Given the description of an element on the screen output the (x, y) to click on. 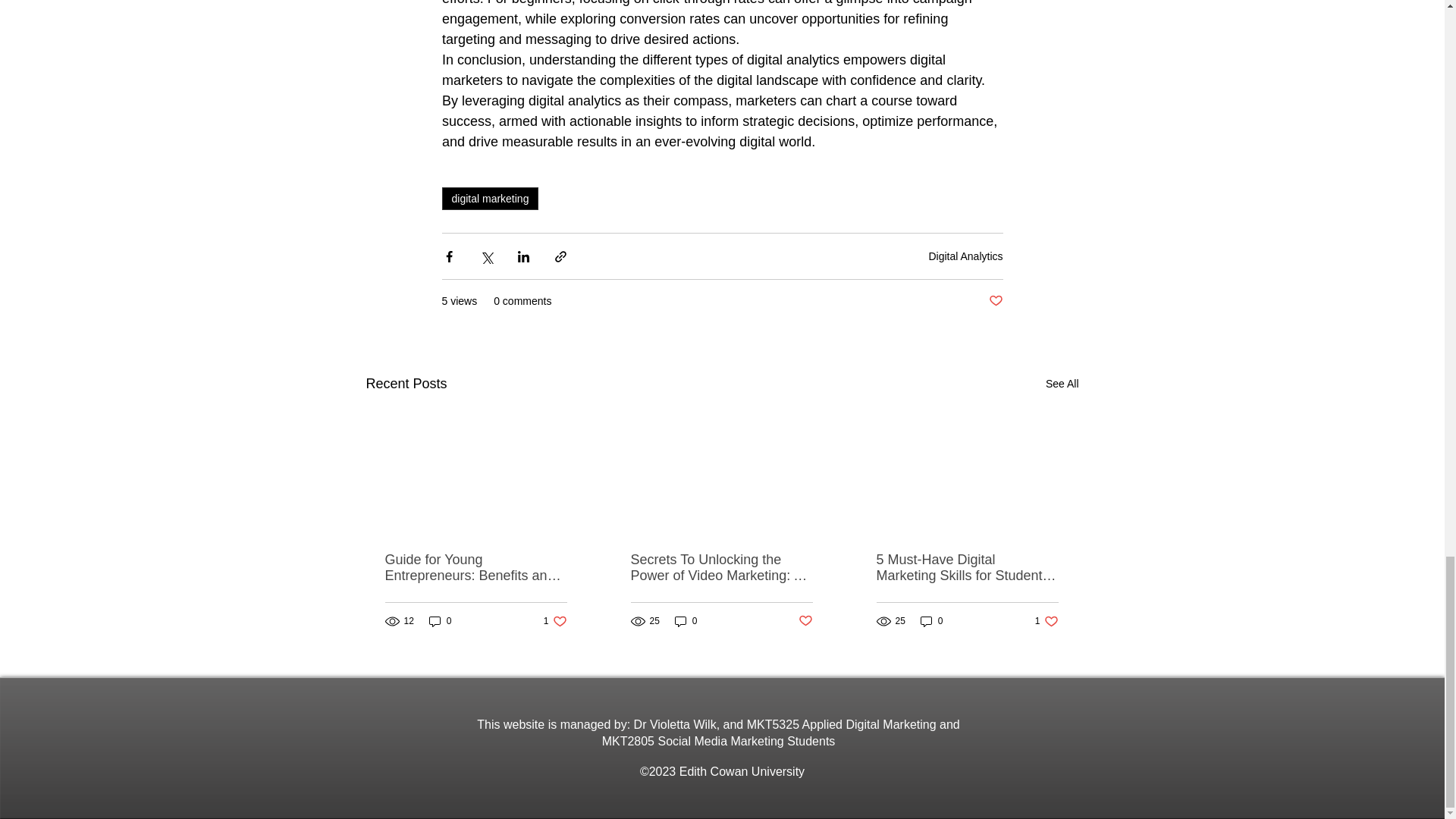
digital marketing (489, 198)
Post not marked as liked (995, 301)
See All (555, 621)
0 (1061, 383)
0 (440, 621)
Digital Analytics (685, 621)
Post not marked as liked (965, 256)
